Given the description of an element on the screen output the (x, y) to click on. 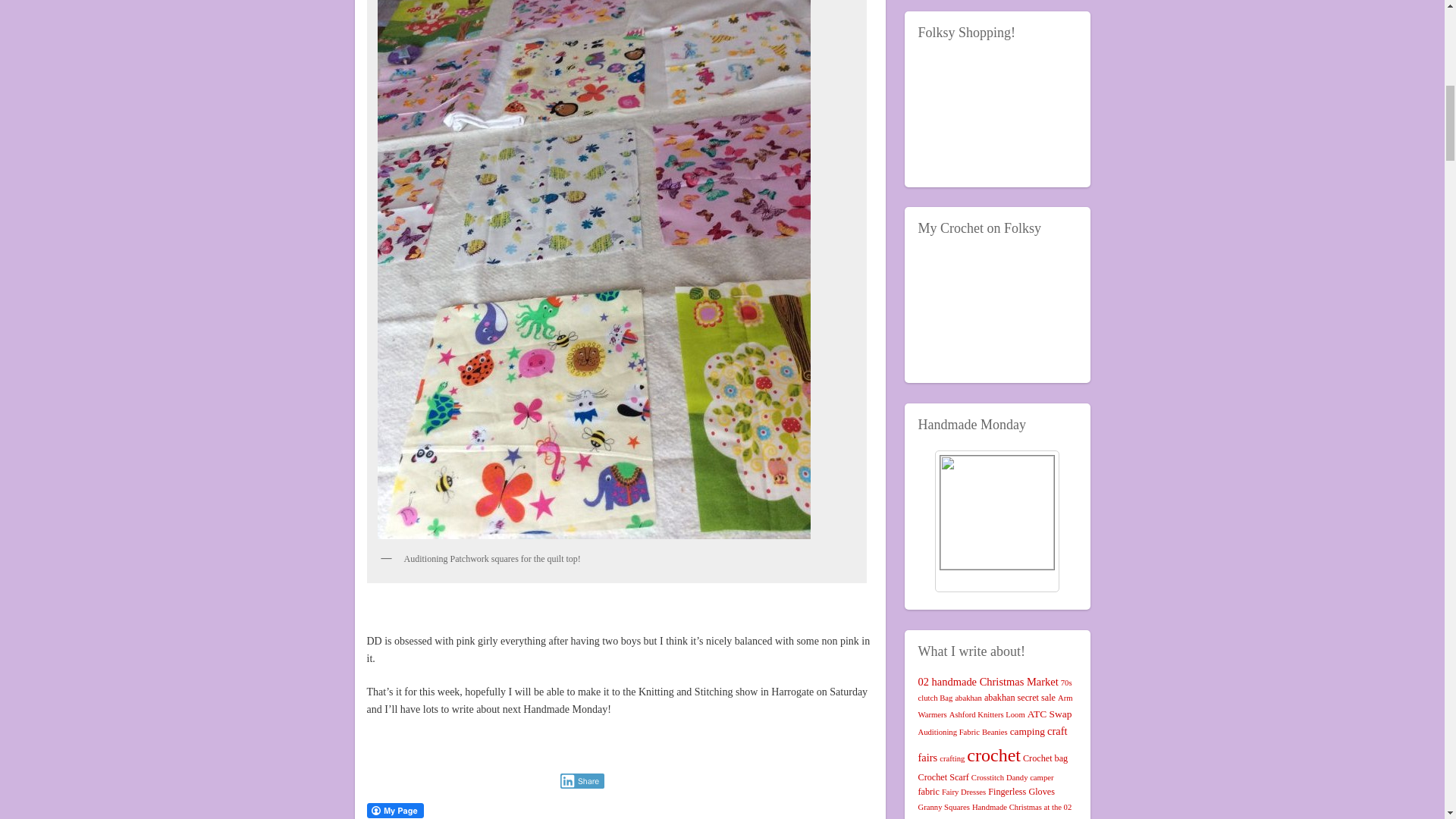
Share (581, 780)
